Given the description of an element on the screen output the (x, y) to click on. 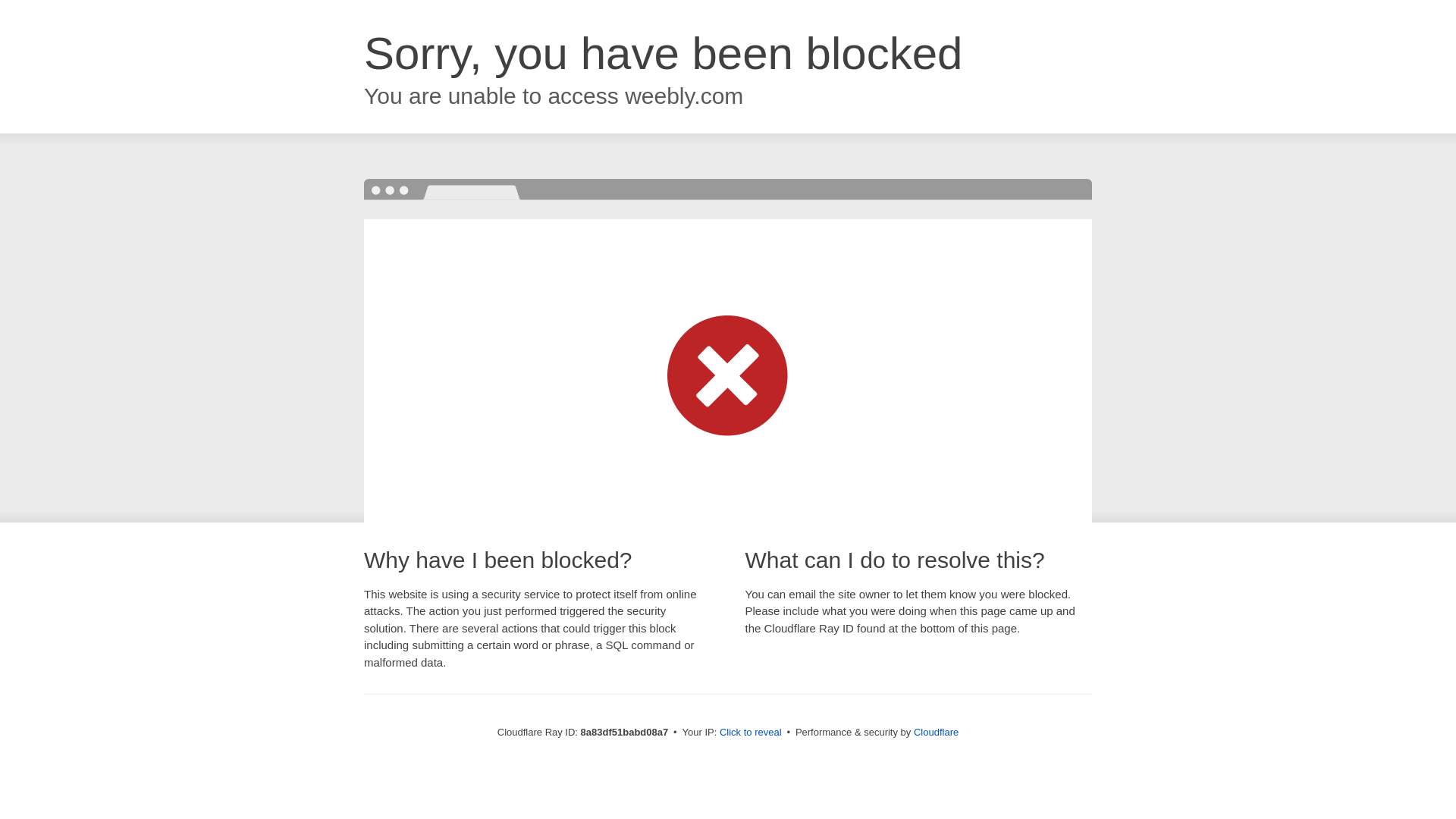
Cloudflare (936, 731)
Click to reveal (750, 732)
